Given the description of an element on the screen output the (x, y) to click on. 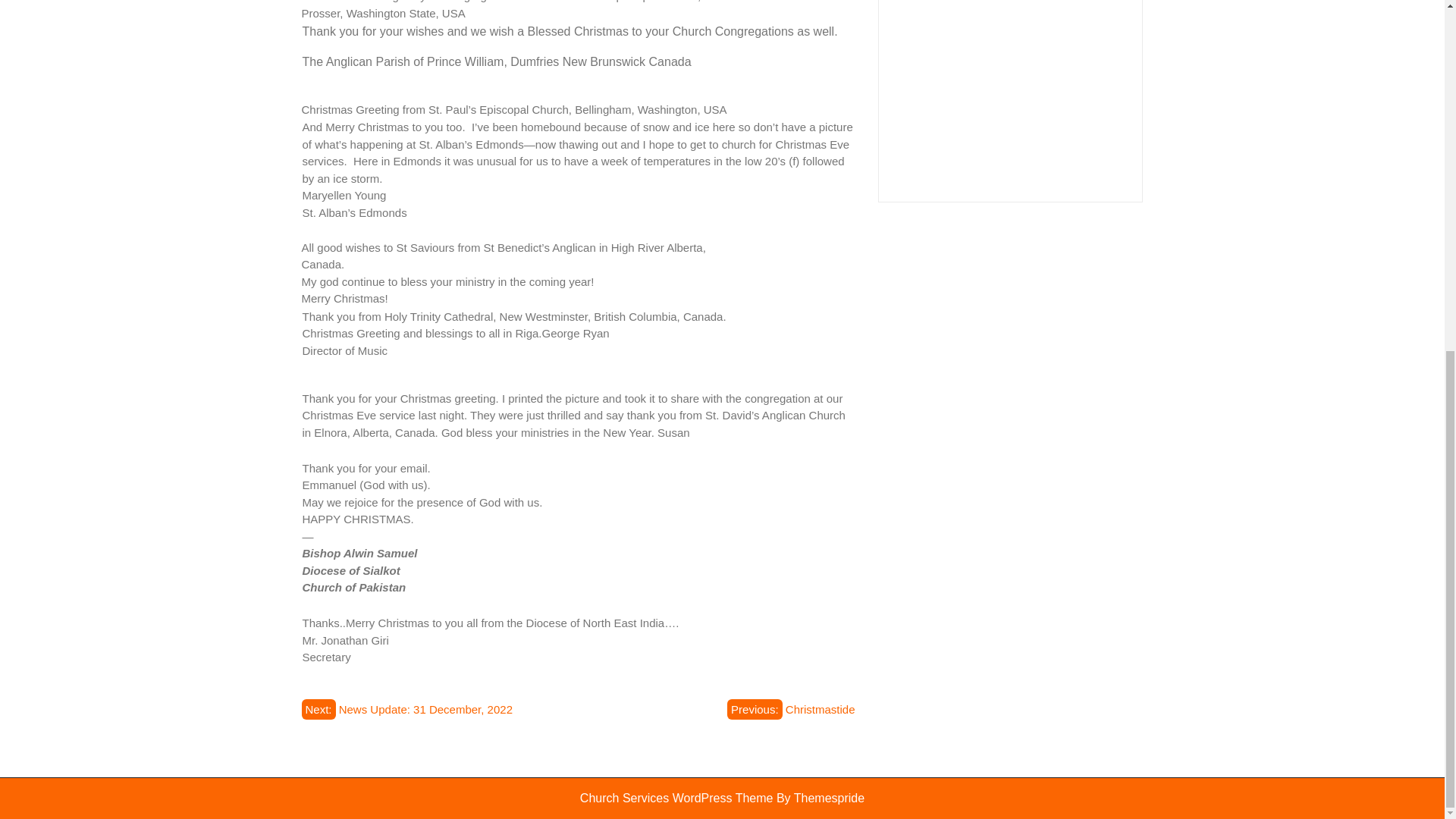
Previous: Christmastide (790, 709)
Next: News Update: 31 December, 2022 (407, 709)
Church Services WordPress Theme (676, 797)
